Given the description of an element on the screen output the (x, y) to click on. 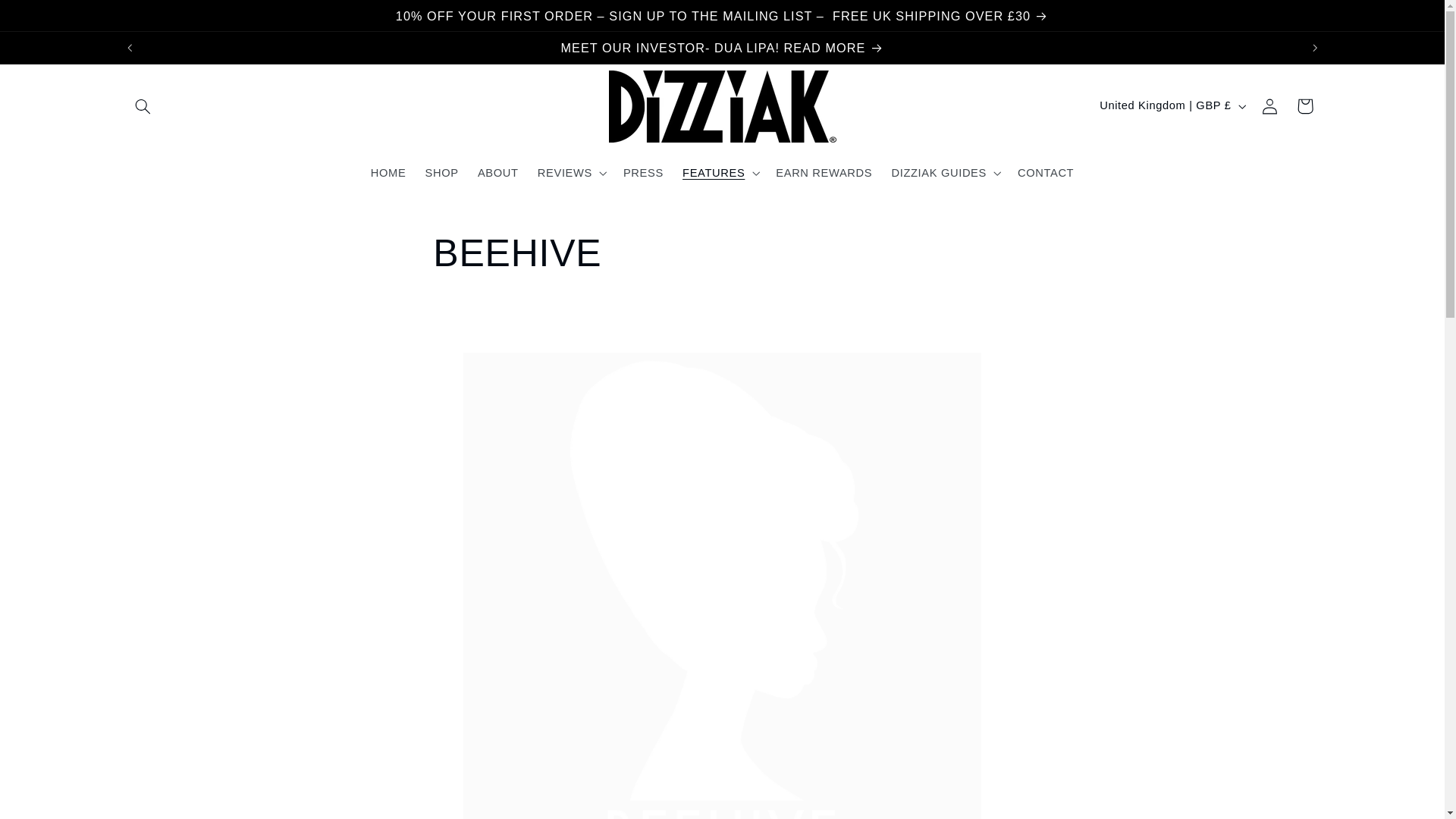
Skip to content (48, 18)
HOME (387, 172)
BEEHIVE (721, 253)
MEET OUR INVESTOR- DUA LIPA! READ MORE (722, 47)
